Given the description of an element on the screen output the (x, y) to click on. 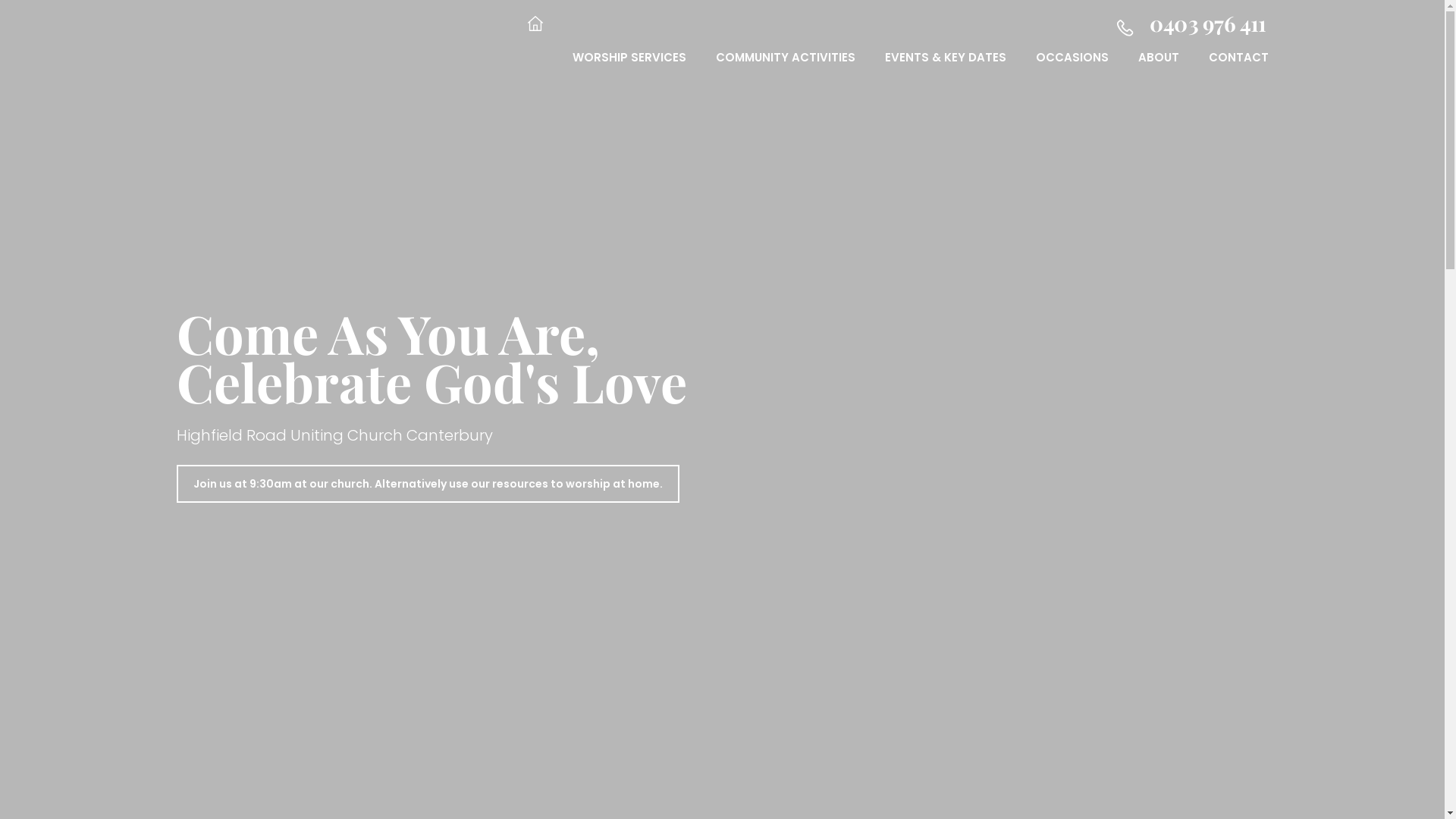
CONTACT Element type: text (1238, 68)
EVENTS & KEY DATES Element type: text (944, 68)
WORSHIP SERVICES Element type: text (628, 68)
COMMUNITY ACTIVITIES Element type: text (785, 68)
ABOUT Element type: text (1157, 68)
OCCASIONS Element type: text (1071, 68)
